Given the description of an element on the screen output the (x, y) to click on. 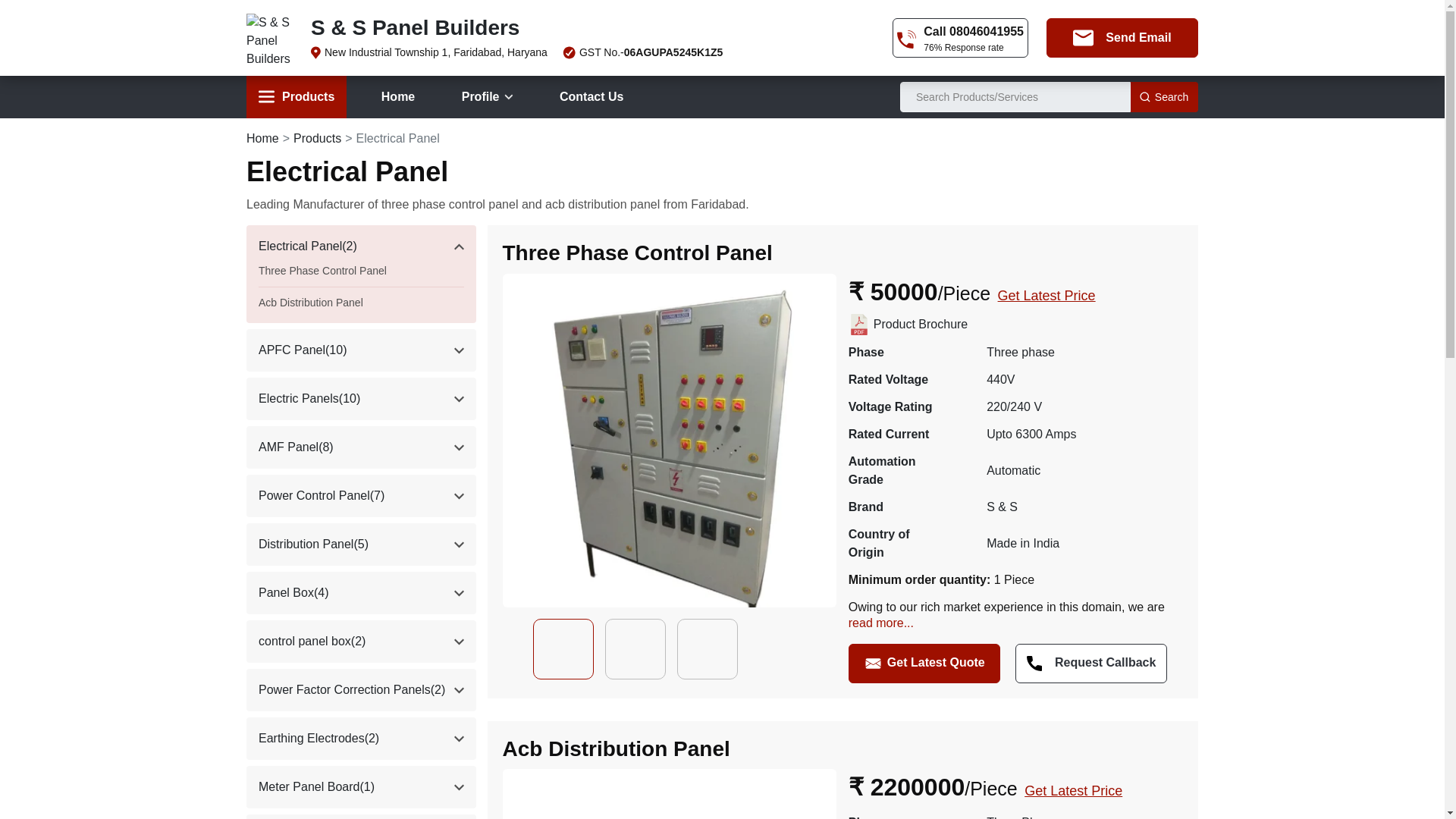
Products (296, 96)
Home (397, 96)
Send Email (1122, 37)
Profile (487, 96)
